Given the description of an element on the screen output the (x, y) to click on. 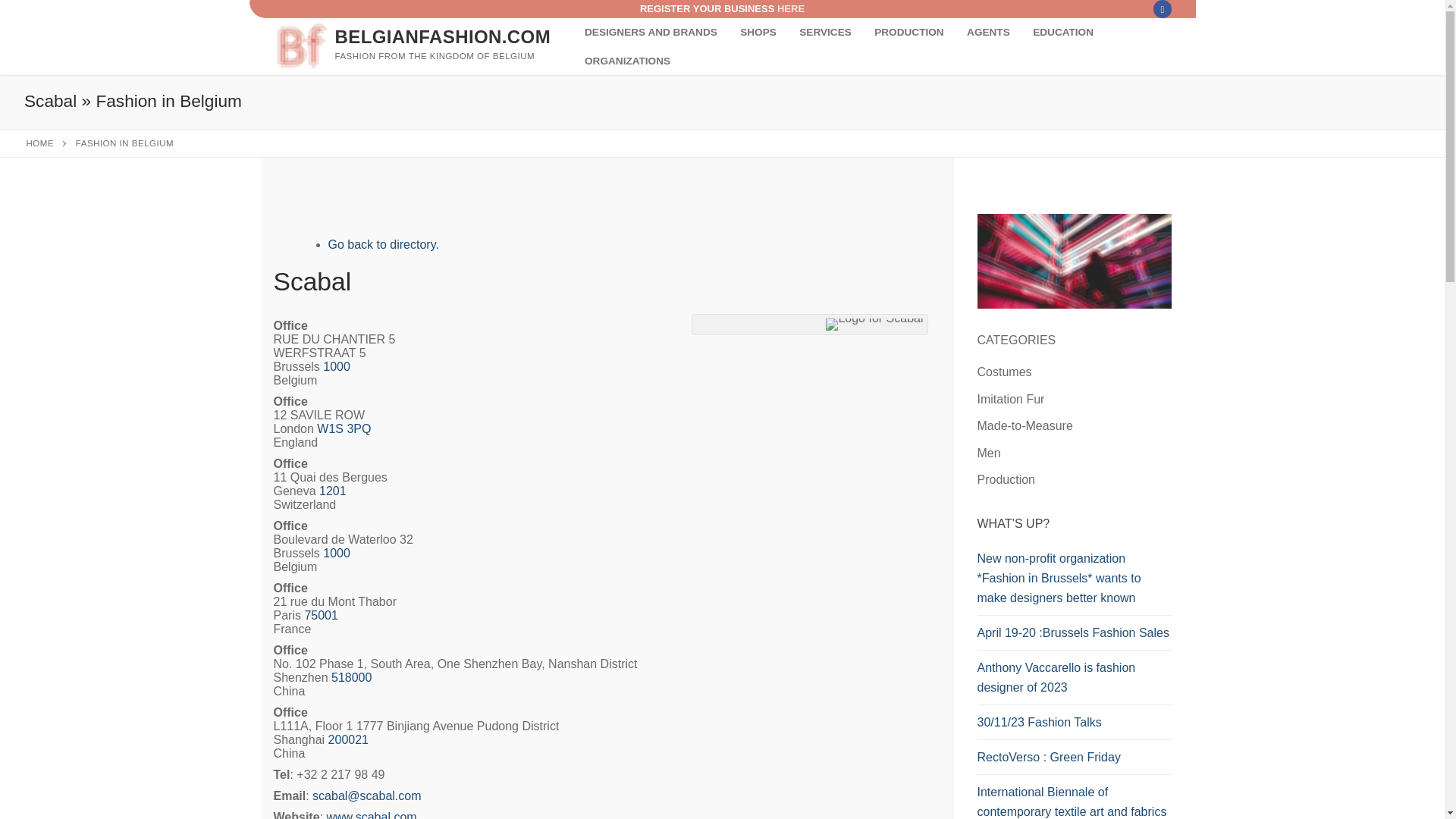
PRODUCTION (908, 32)
75001 (320, 615)
1000 (336, 553)
SHOPS (758, 32)
DESIGNERS AND BRANDS (650, 32)
HOME (40, 143)
Scabal (366, 795)
1000 (336, 366)
1000 (336, 553)
AGENTS (988, 32)
